Given the description of an element on the screen output the (x, y) to click on. 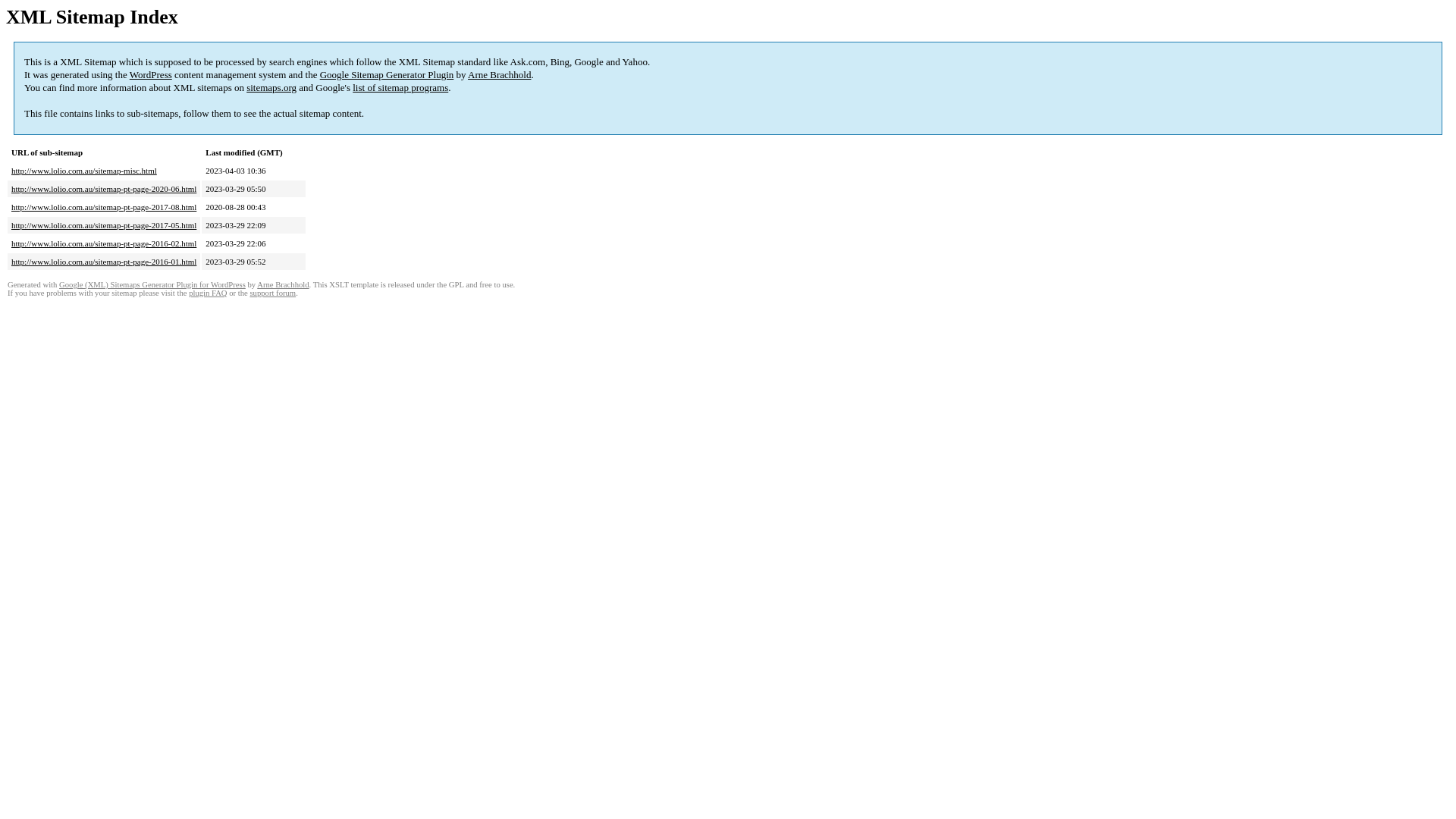
Arne Brachhold Element type: text (282, 284)
support forum Element type: text (272, 292)
http://www.lolio.com.au/sitemap-pt-page-2020-06.html Element type: text (103, 188)
WordPress Element type: text (150, 74)
http://www.lolio.com.au/sitemap-pt-page-2017-05.html Element type: text (103, 224)
http://www.lolio.com.au/sitemap-pt-page-2016-02.html Element type: text (103, 242)
Arne Brachhold Element type: text (498, 74)
http://www.lolio.com.au/sitemap-misc.html Element type: text (83, 170)
http://www.lolio.com.au/sitemap-pt-page-2016-01.html Element type: text (103, 261)
sitemaps.org Element type: text (271, 87)
http://www.lolio.com.au/sitemap-pt-page-2017-08.html Element type: text (103, 206)
plugin FAQ Element type: text (207, 292)
Google (XML) Sitemaps Generator Plugin for WordPress Element type: text (152, 284)
Google Sitemap Generator Plugin Element type: text (387, 74)
list of sitemap programs Element type: text (400, 87)
